Given the description of an element on the screen output the (x, y) to click on. 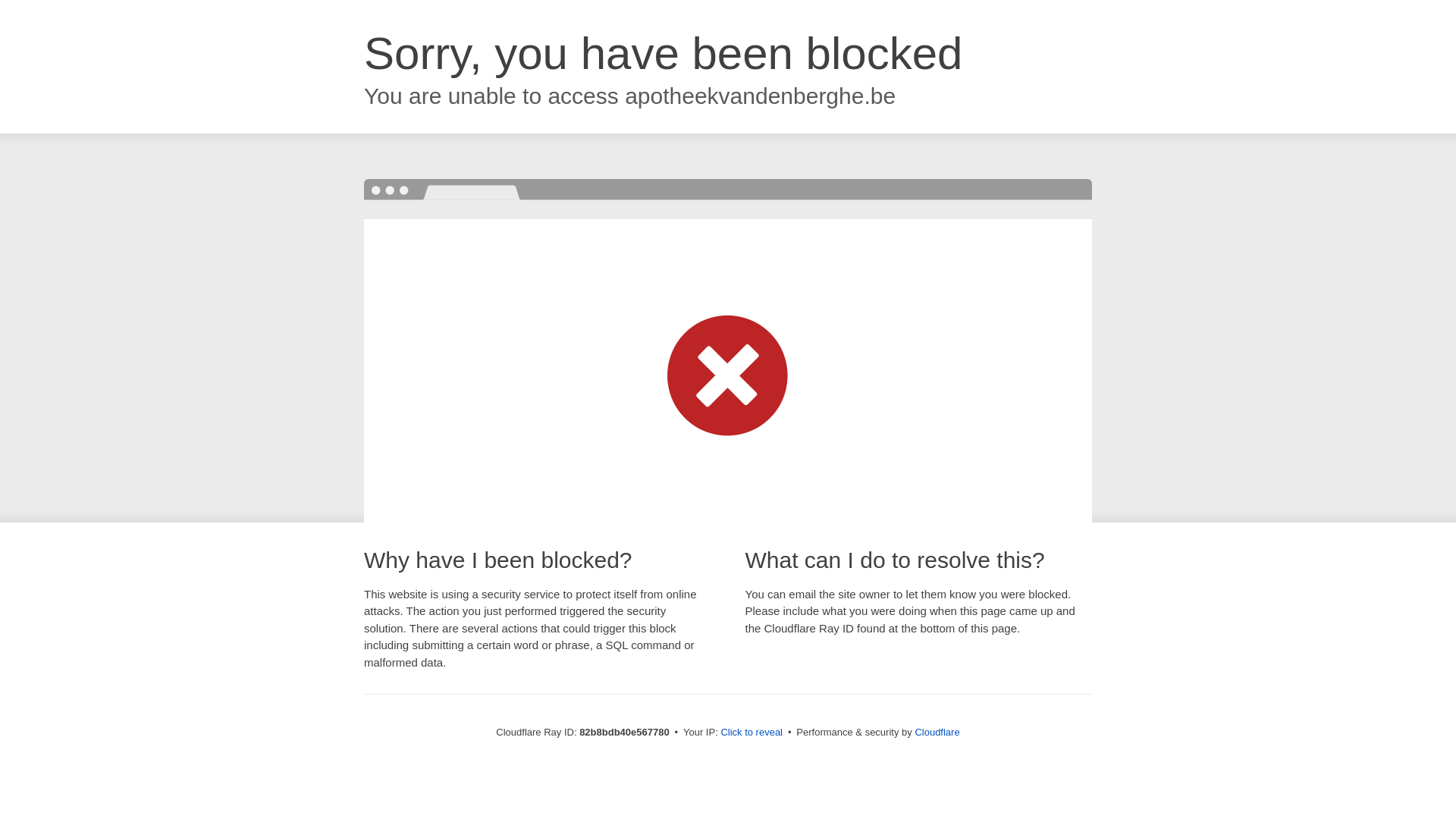
Click to reveal Element type: text (751, 732)
Cloudflare Element type: text (936, 731)
